Given the description of an element on the screen output the (x, y) to click on. 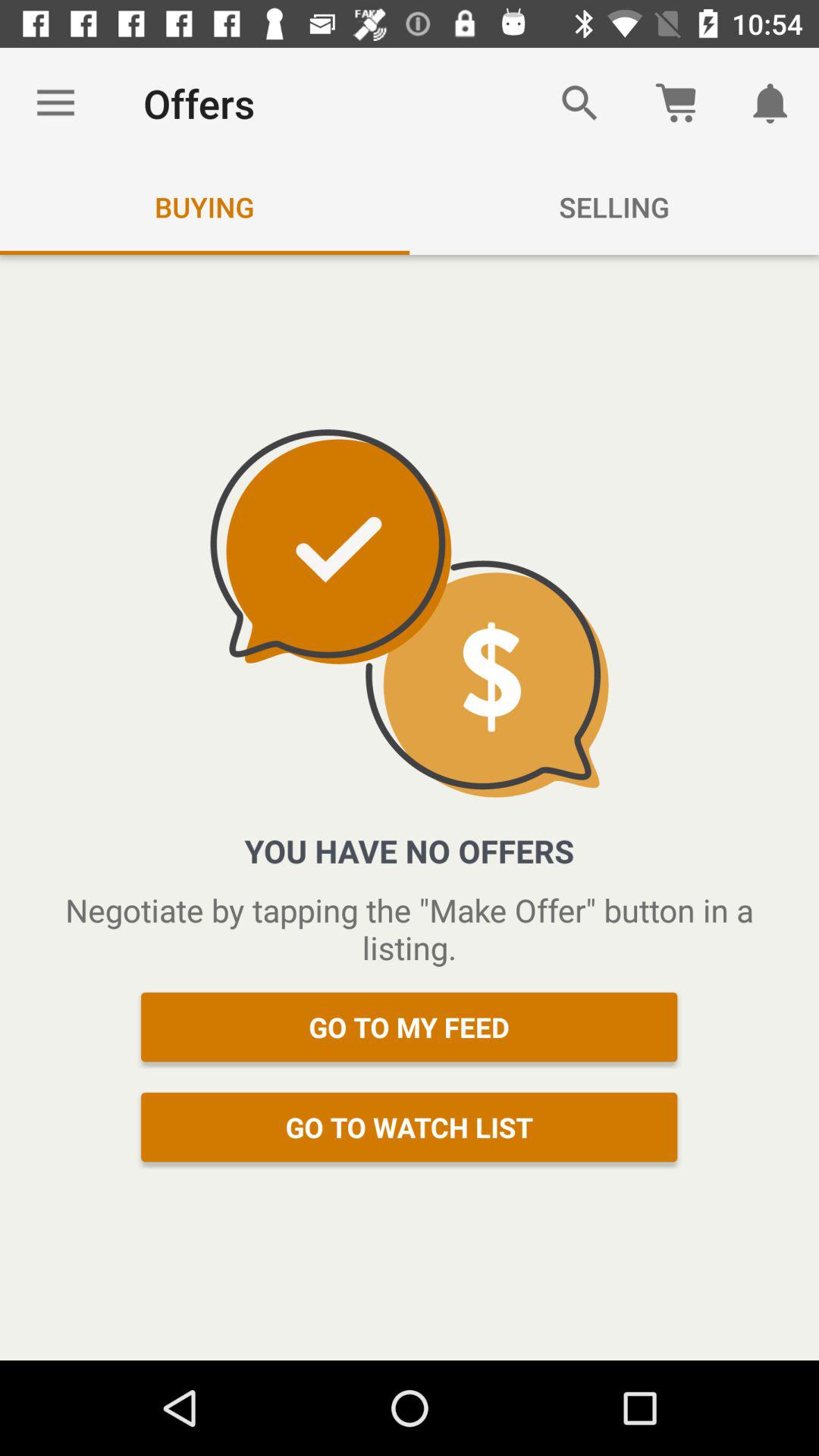
turn on item next to the offers (55, 103)
